Given the description of an element on the screen output the (x, y) to click on. 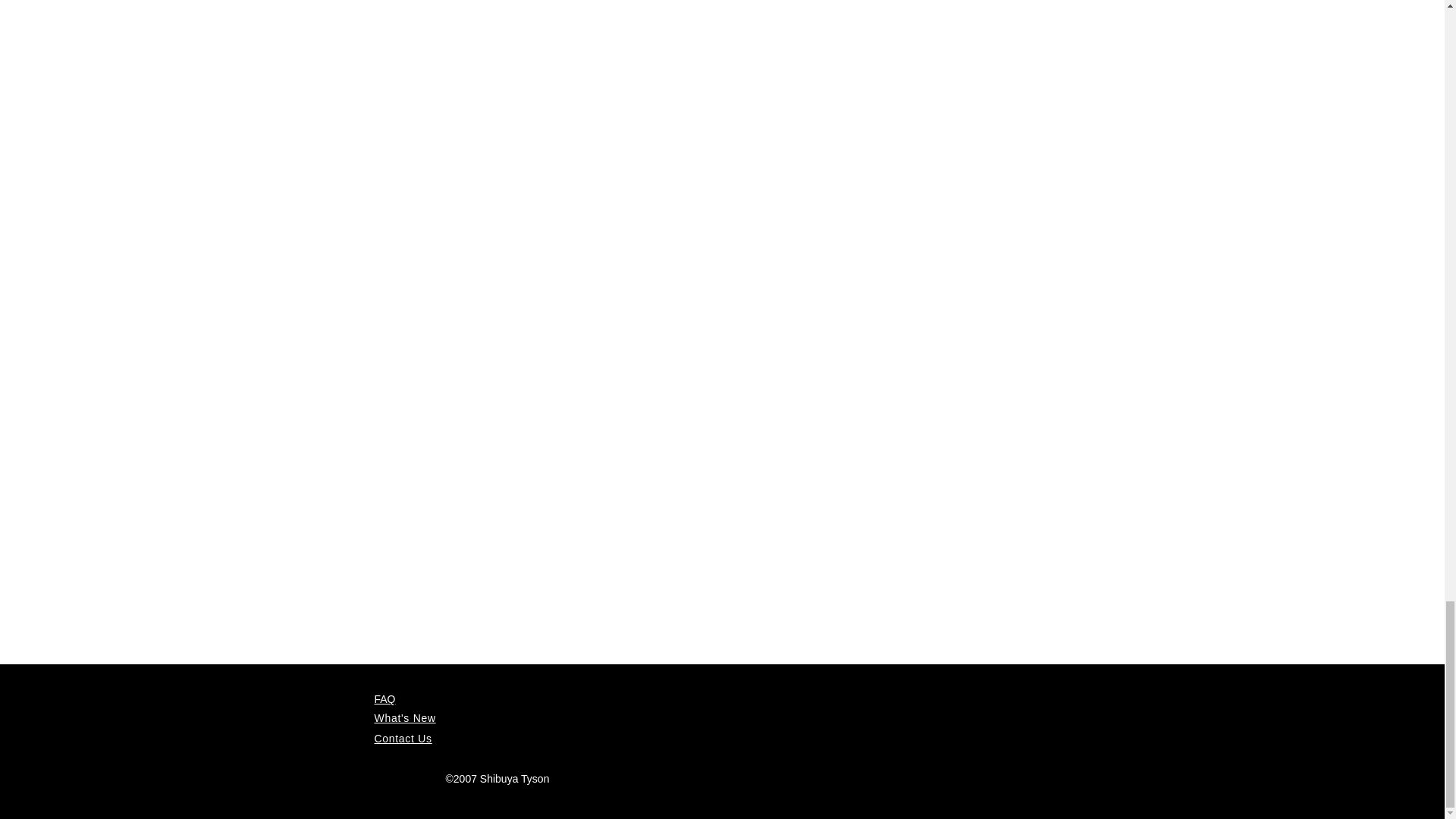
FAQ (385, 698)
What's New (404, 717)
Contact Us (403, 738)
